Given the description of an element on the screen output the (x, y) to click on. 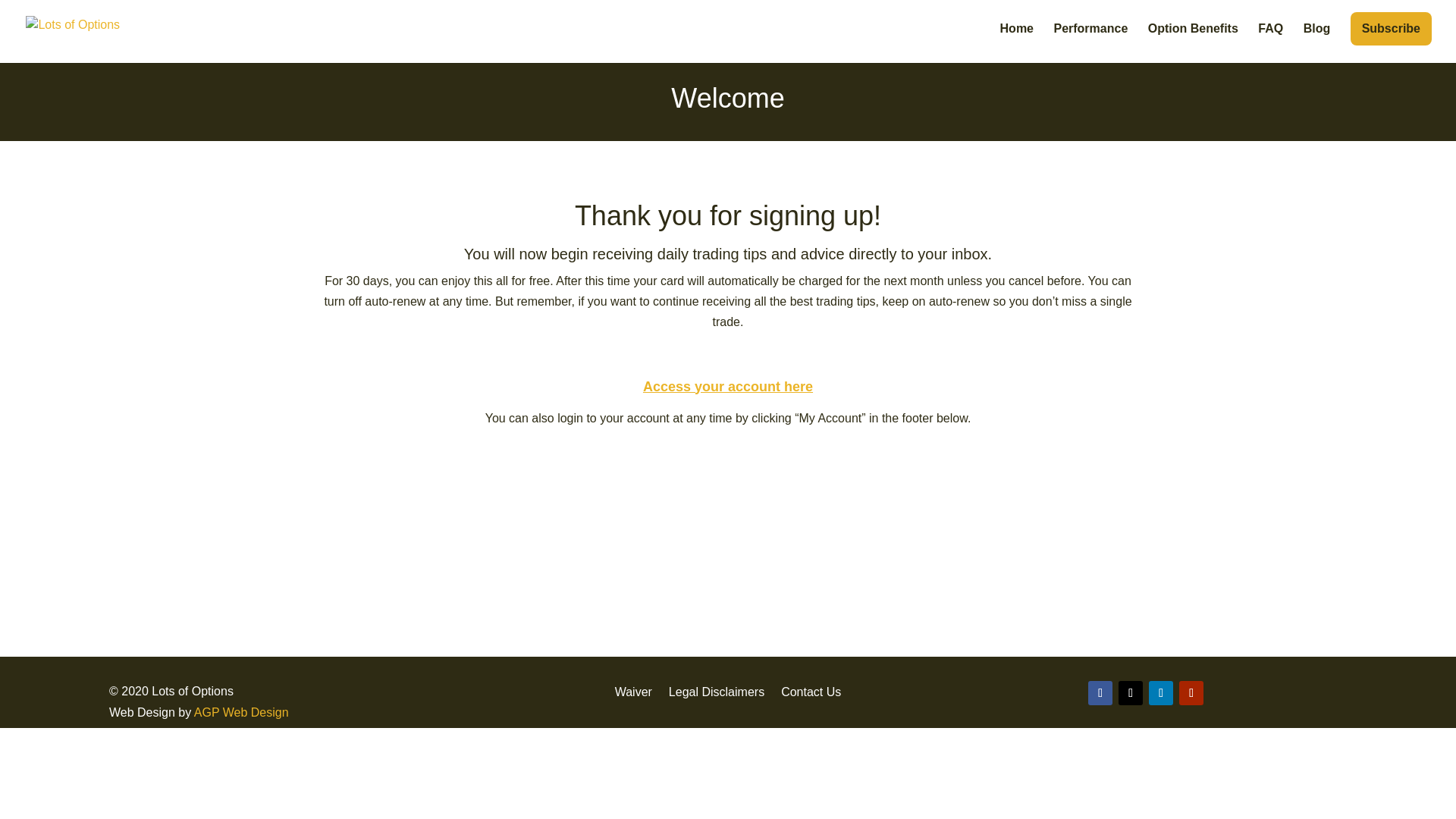
AGP Web Design (240, 712)
Subscribe (1391, 28)
Waiver (633, 688)
Follow on Youtube (1191, 692)
Legal Disclaimers (716, 688)
Follow on LinkedIn (1160, 692)
Follow on Facebook (1099, 692)
Performance (1089, 43)
Access your account here (727, 386)
Contact Us (810, 688)
